Given the description of an element on the screen output the (x, y) to click on. 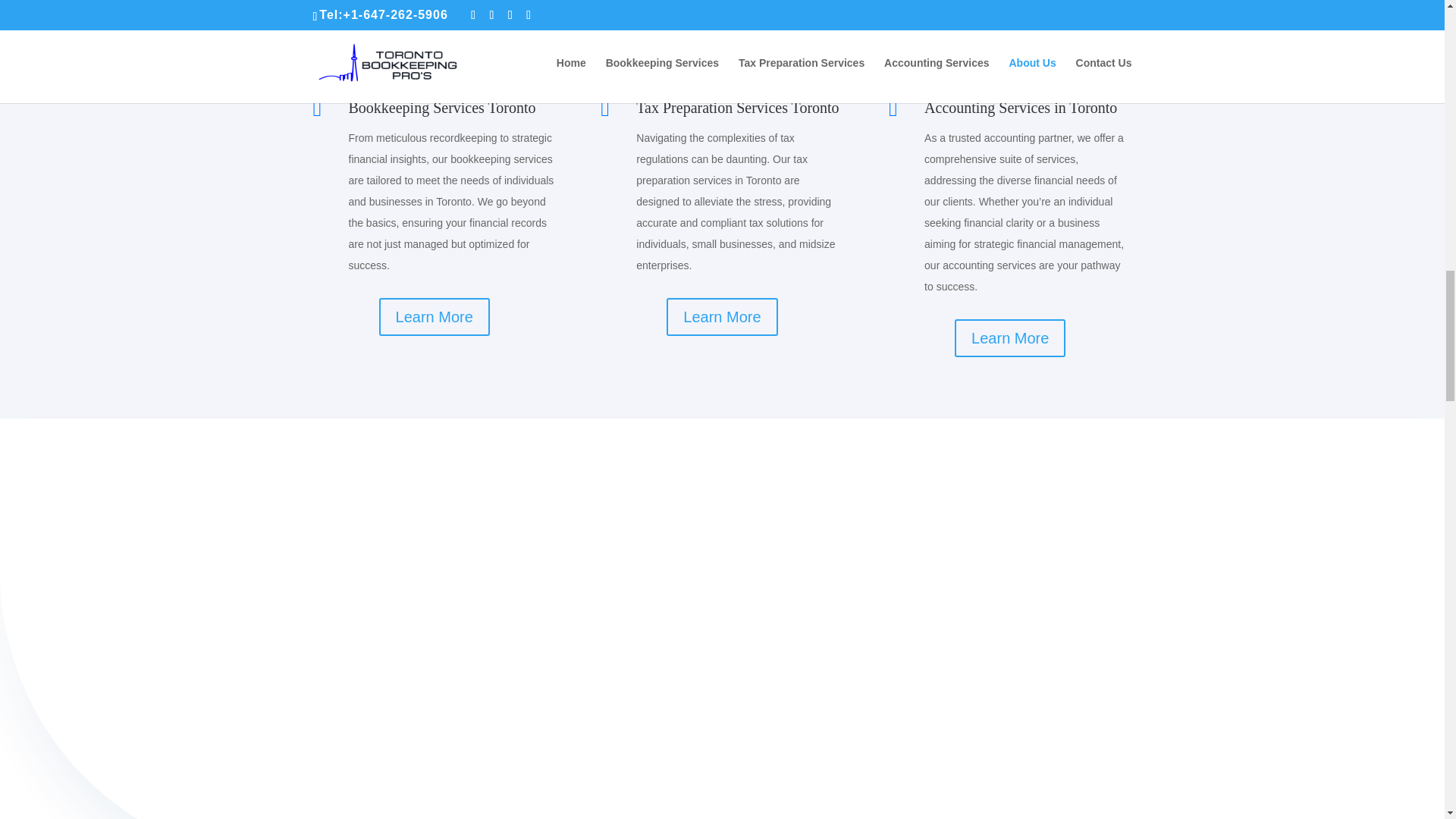
Learn More (433, 316)
Learn More (1010, 338)
Bookkeeping Services Toronto (442, 107)
Learn More (721, 316)
Accounting Services in Toronto (1020, 107)
Tax Preparation Services Toronto (737, 107)
